Given the description of an element on the screen output the (x, y) to click on. 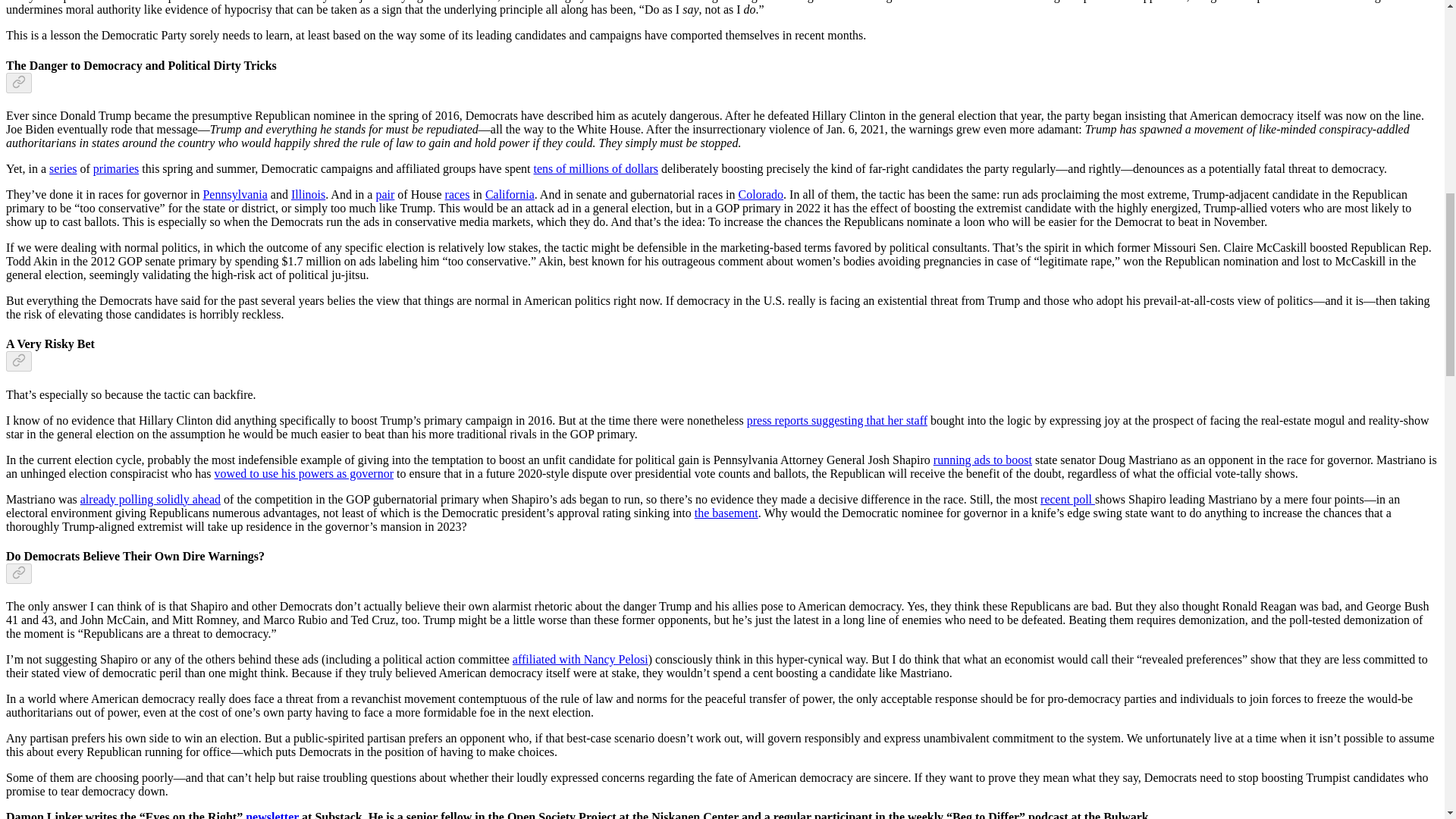
races (457, 194)
vowed to use his powers as governor (303, 472)
press reports suggesting that her staff (836, 420)
primaries (115, 168)
pair (384, 194)
Illinois (307, 194)
series (63, 168)
Colorado (761, 194)
Pennsylvania (234, 194)
California (509, 194)
